Given the description of an element on the screen output the (x, y) to click on. 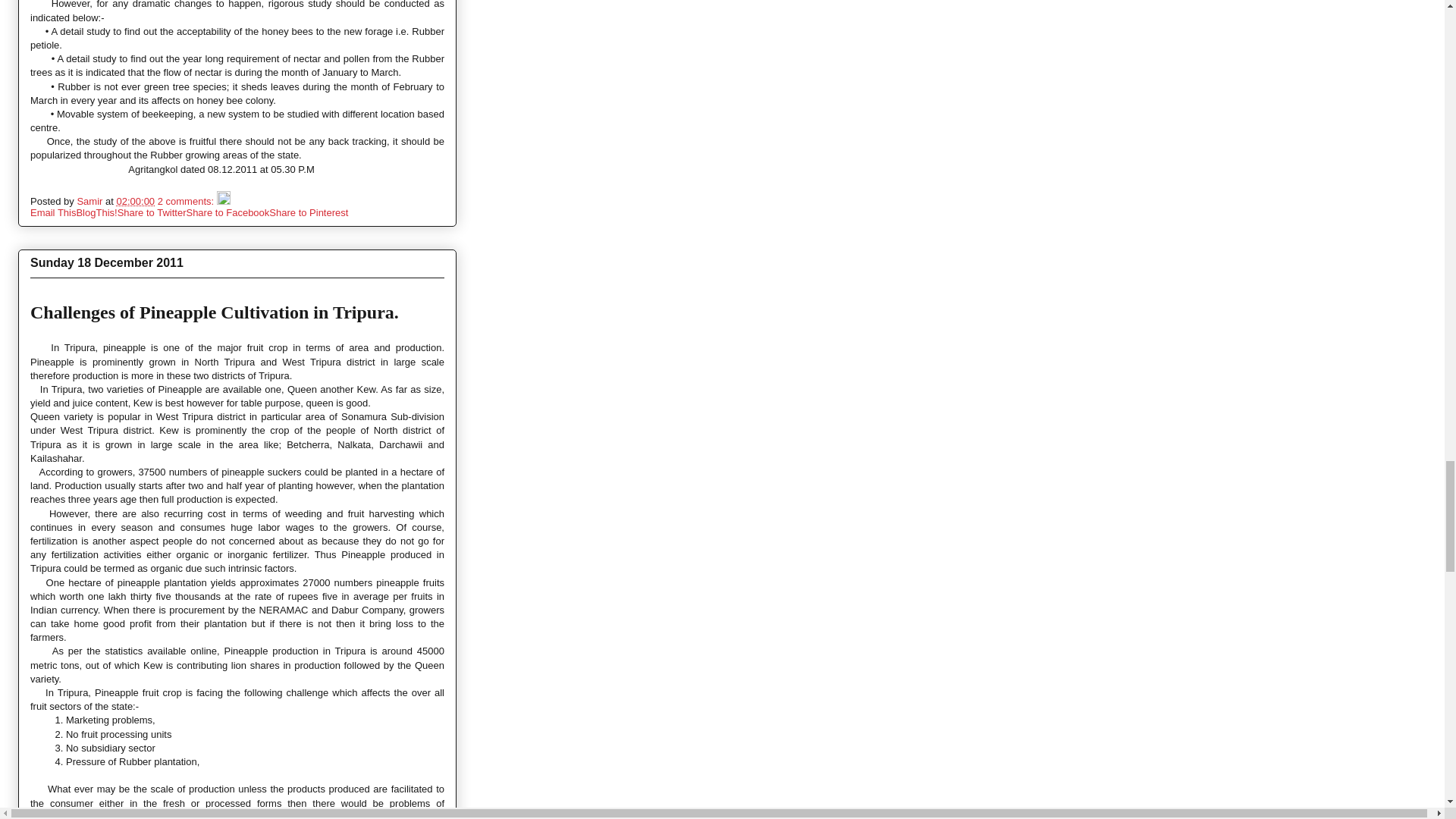
BlogThis! (95, 212)
Challenges of Pineapple Cultivation in Tripura. (214, 312)
Share to Twitter (151, 212)
02:00:00 (135, 201)
2 comments: (186, 201)
Share to Pinterest (308, 212)
Share to Facebook (227, 212)
Samir (90, 201)
Email This (52, 212)
